Given the description of an element on the screen output the (x, y) to click on. 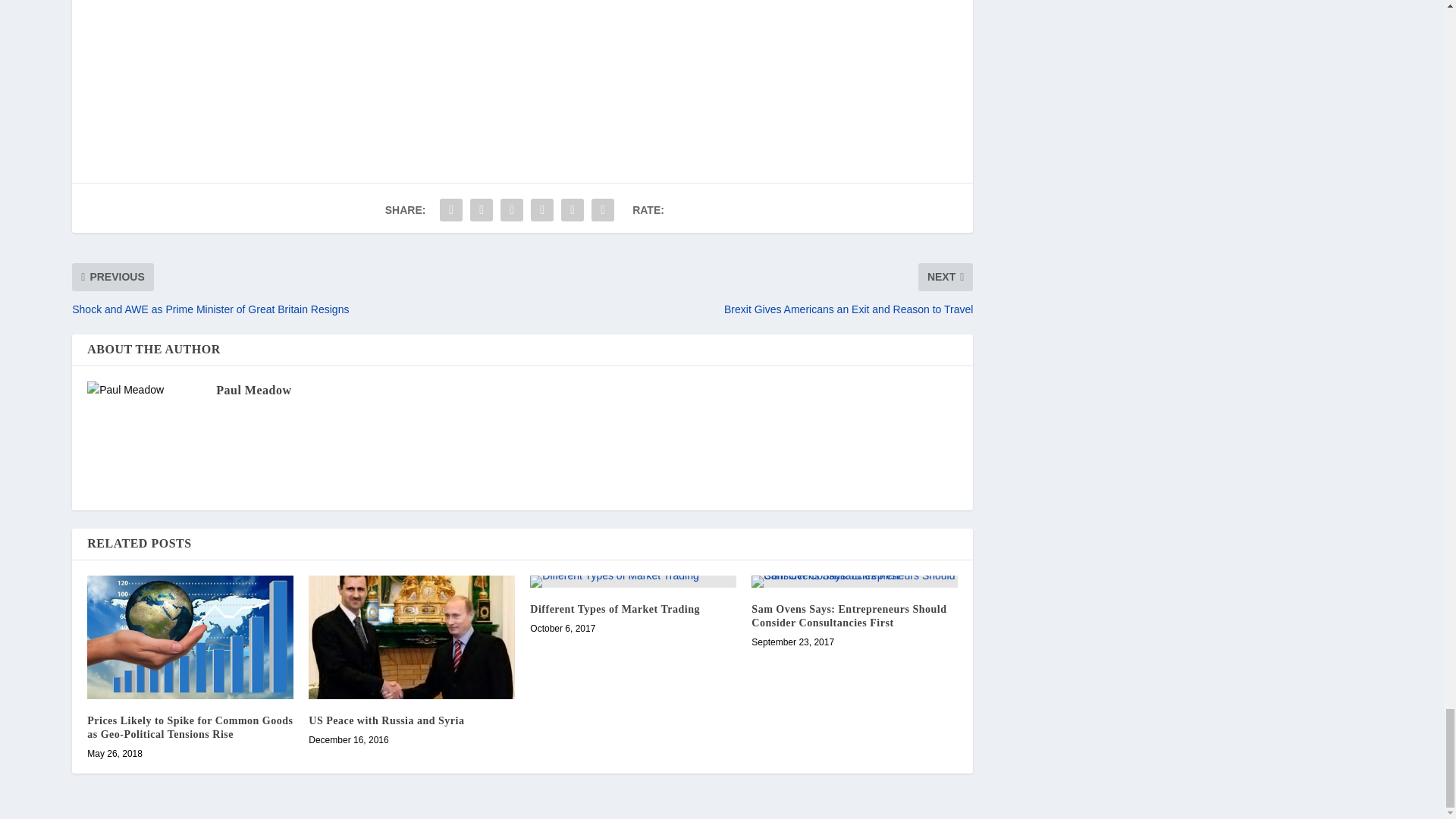
View all posts by Paul Meadow (253, 390)
Different Types of Market Trading (632, 581)
US Peace with Russia and Syria (411, 637)
